Given the description of an element on the screen output the (x, y) to click on. 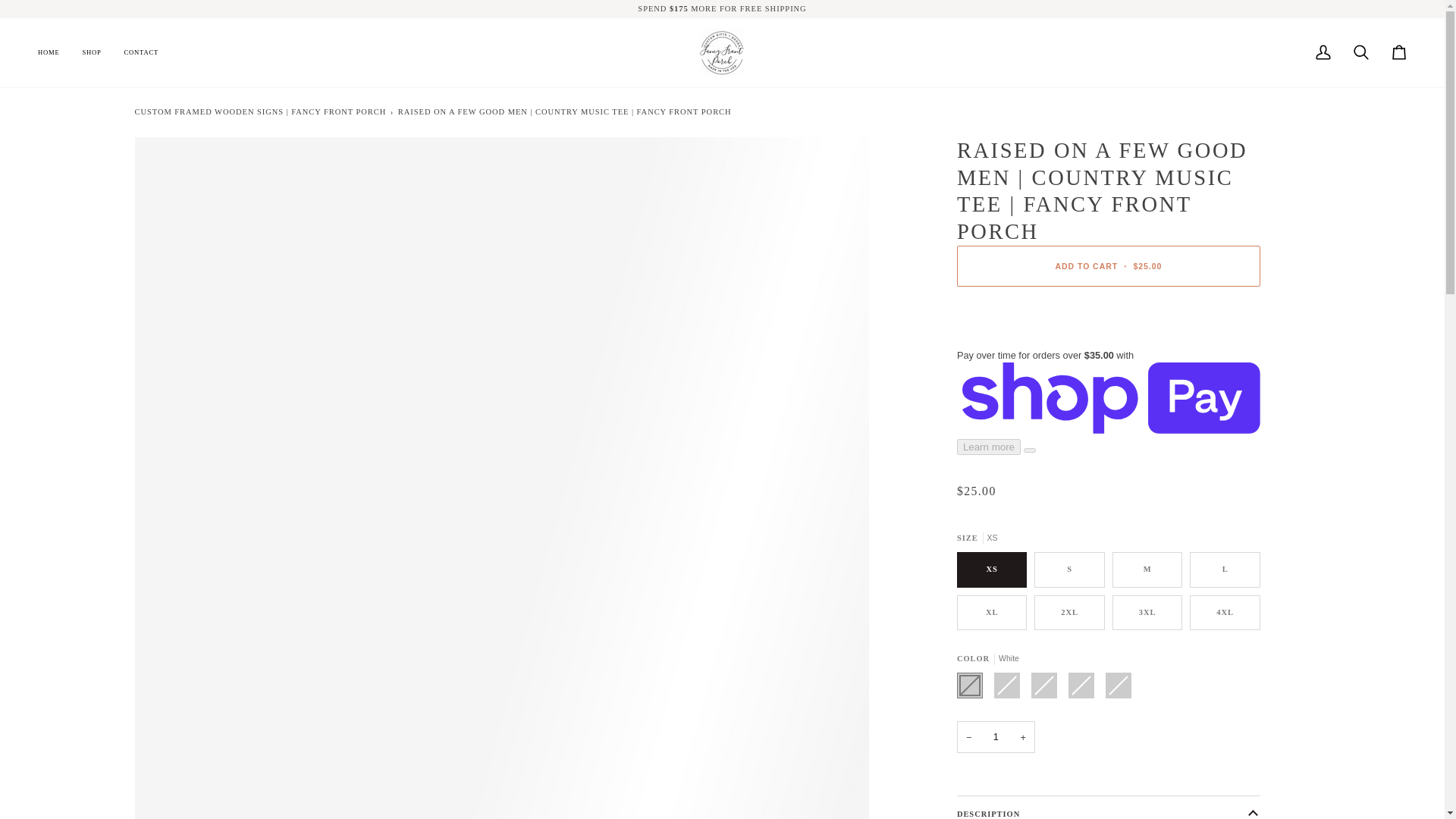
1 (995, 736)
